Given the description of an element on the screen output the (x, y) to click on. 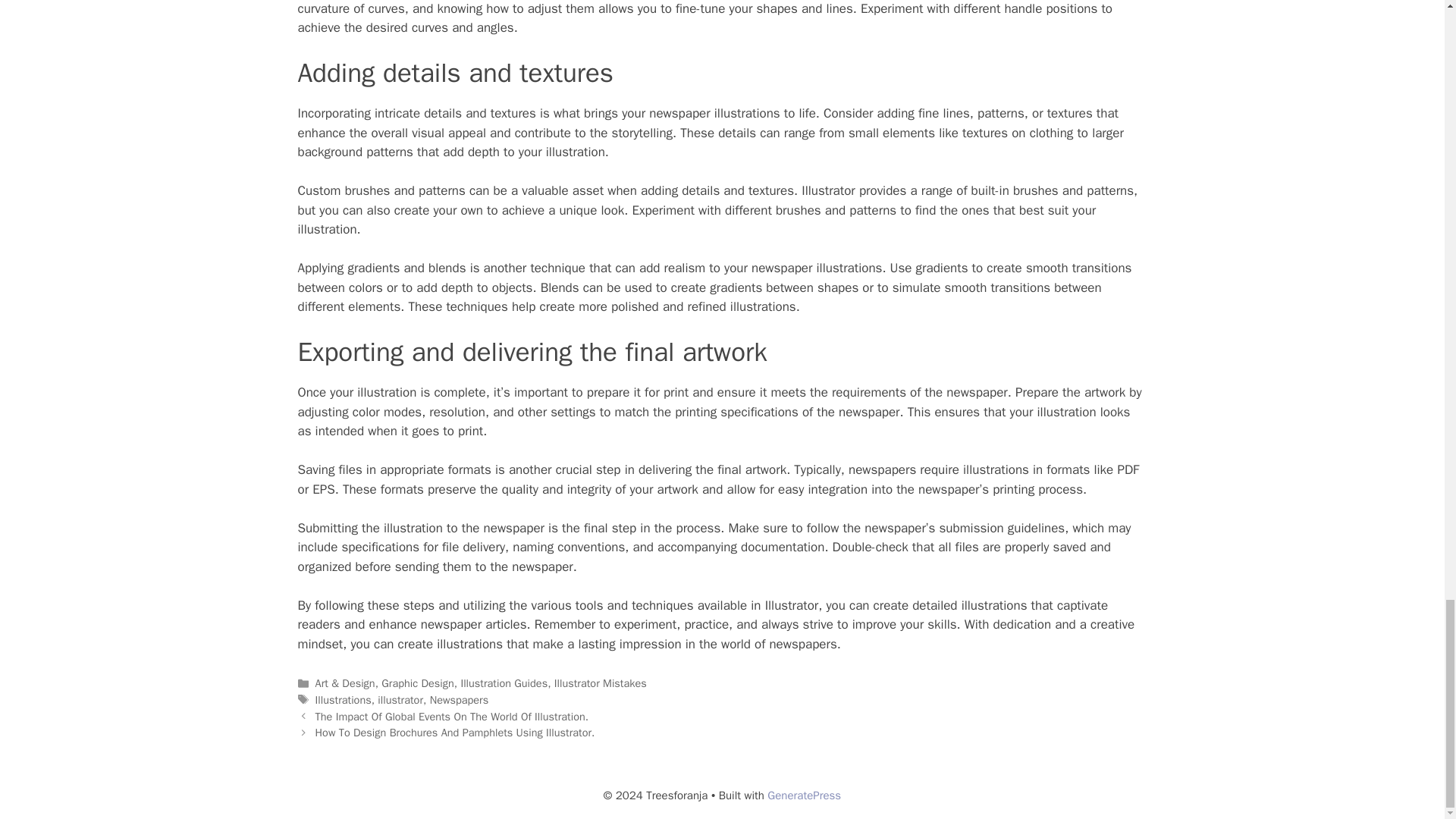
Illustration Guides (503, 683)
illustrator (400, 699)
Illustrator Mistakes (600, 683)
GeneratePress (804, 795)
Illustrations (343, 699)
The Impact Of Global Events On The World Of Illustration. (451, 716)
Graphic Design (416, 683)
How To Design Brochures And Pamphlets Using Illustrator. (455, 732)
Newspapers (459, 699)
